Given the description of an element on the screen output the (x, y) to click on. 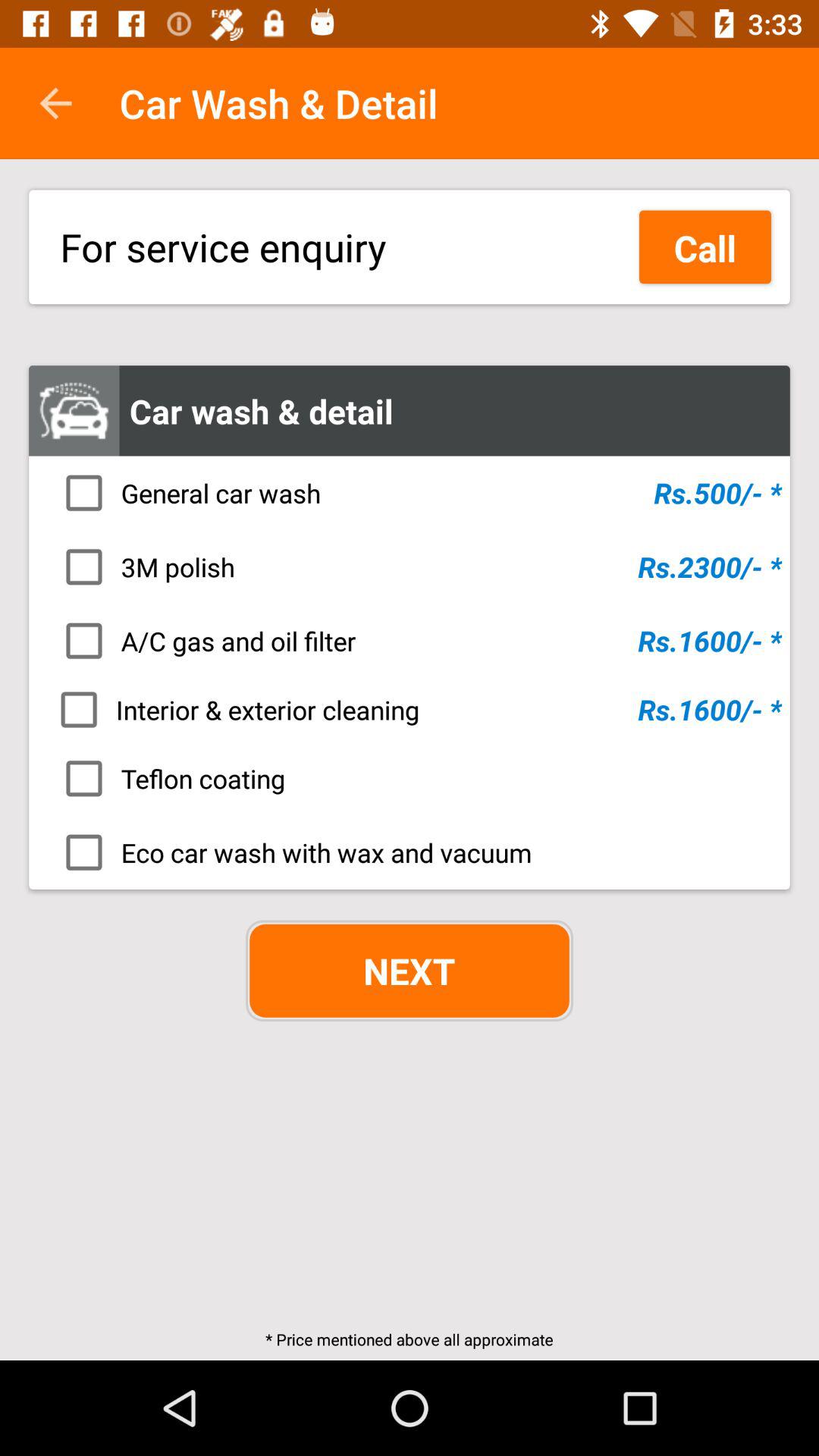
tap icon above a c gas icon (414, 566)
